Given the description of an element on the screen output the (x, y) to click on. 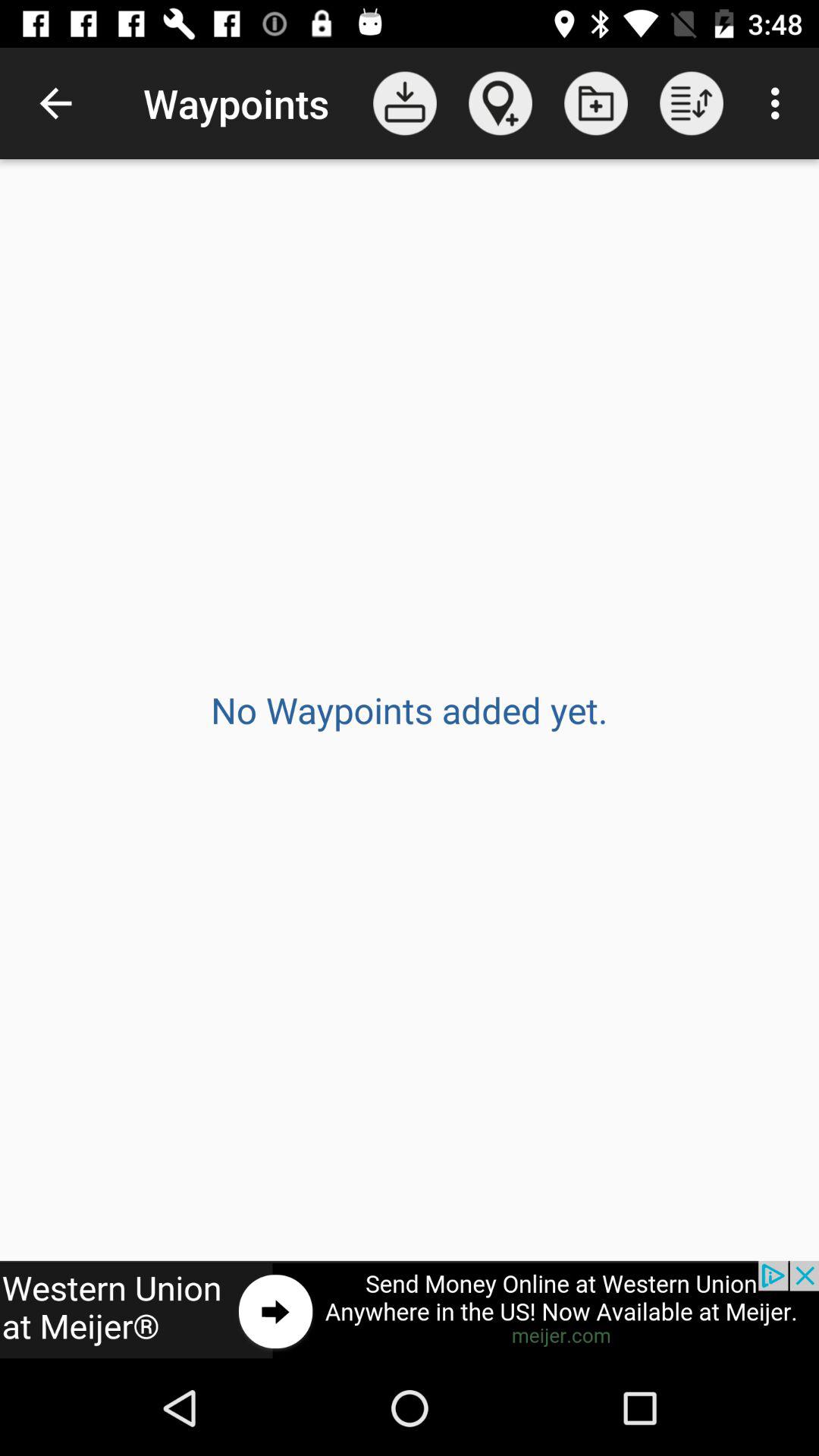
go to pervious (409, 1310)
